Given the description of an element on the screen output the (x, y) to click on. 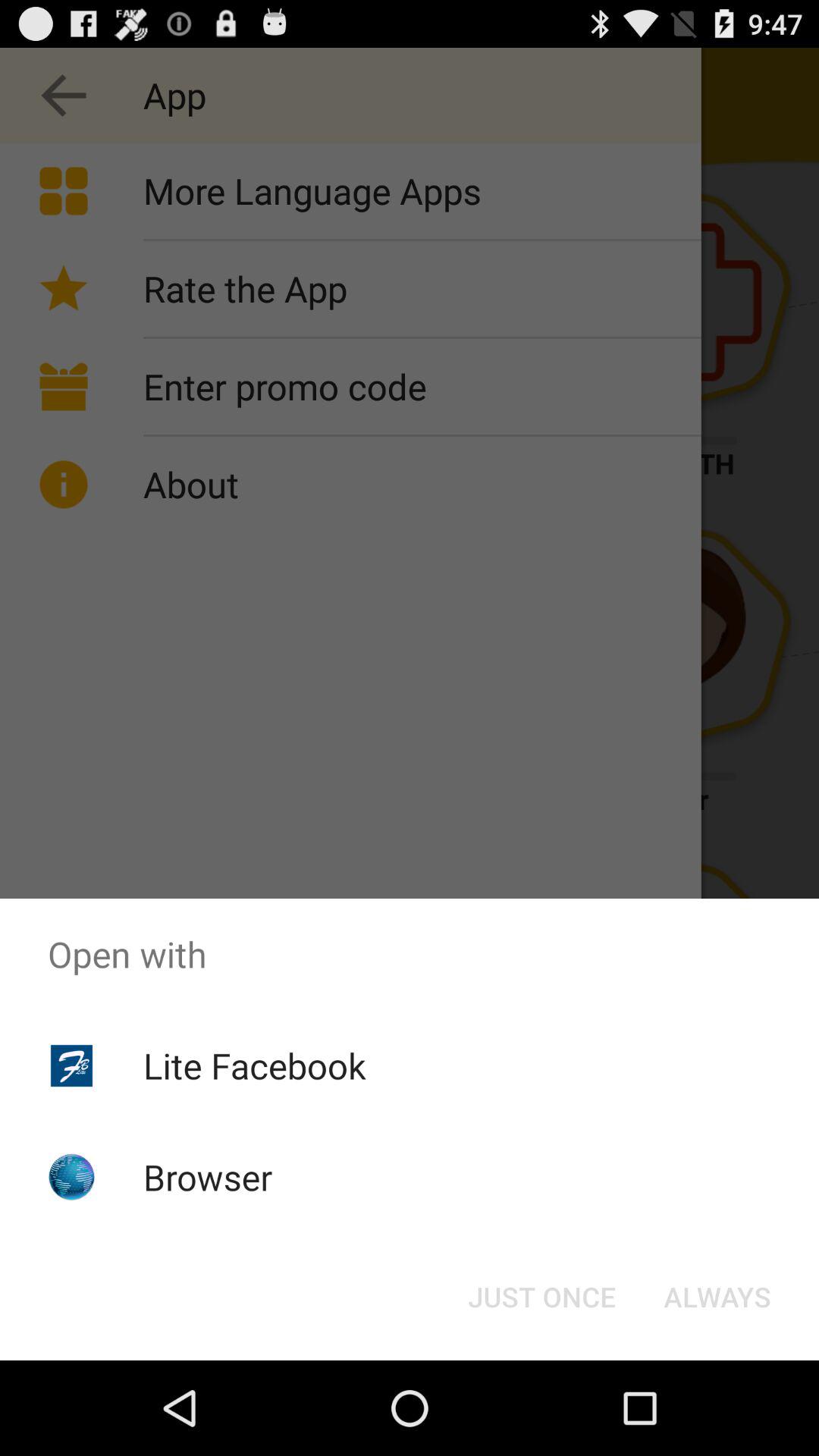
swipe until the always icon (717, 1296)
